Given the description of an element on the screen output the (x, y) to click on. 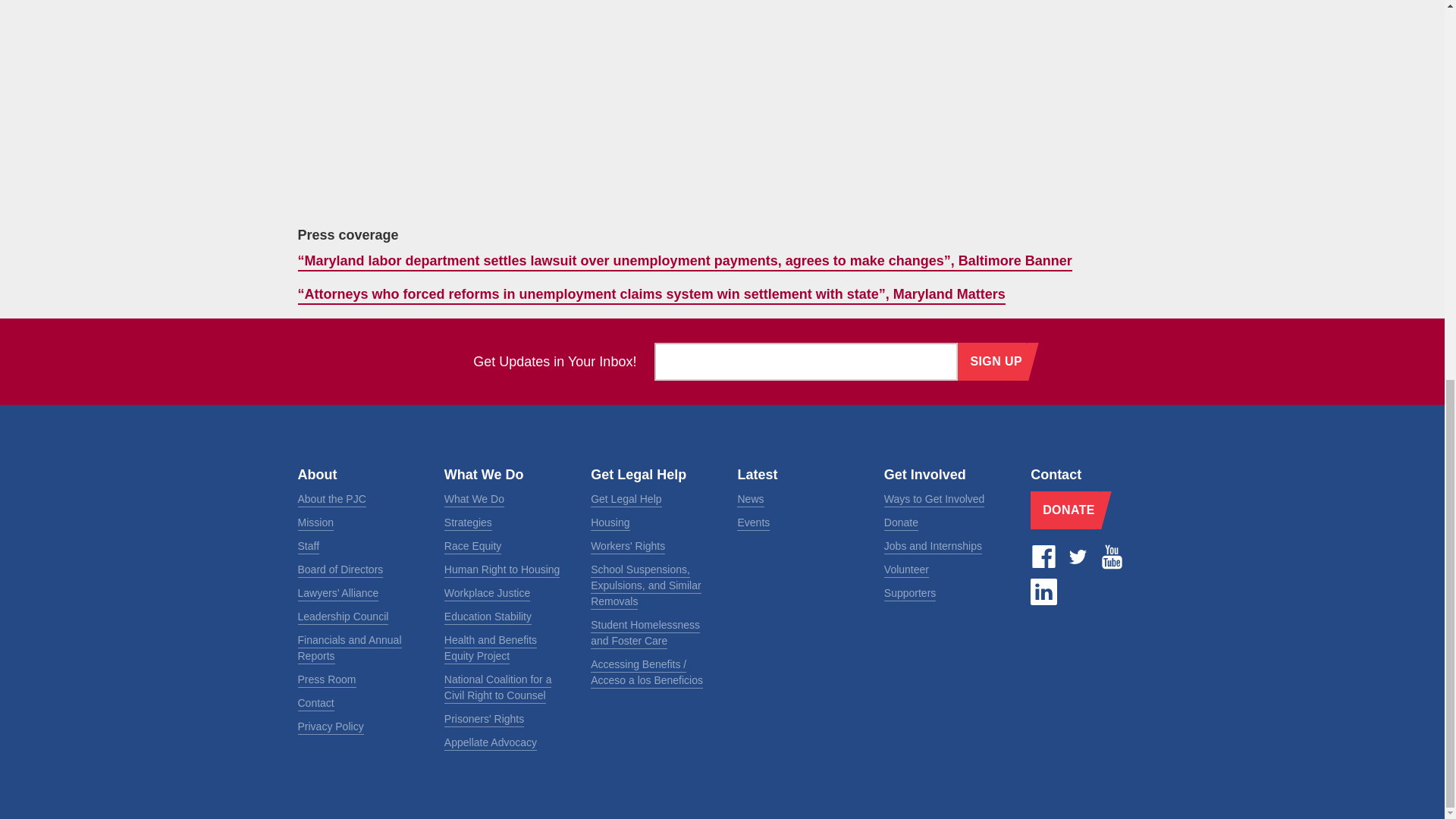
Strengthening unemployment insurance in Maryland (516, 106)
